Given the description of an element on the screen output the (x, y) to click on. 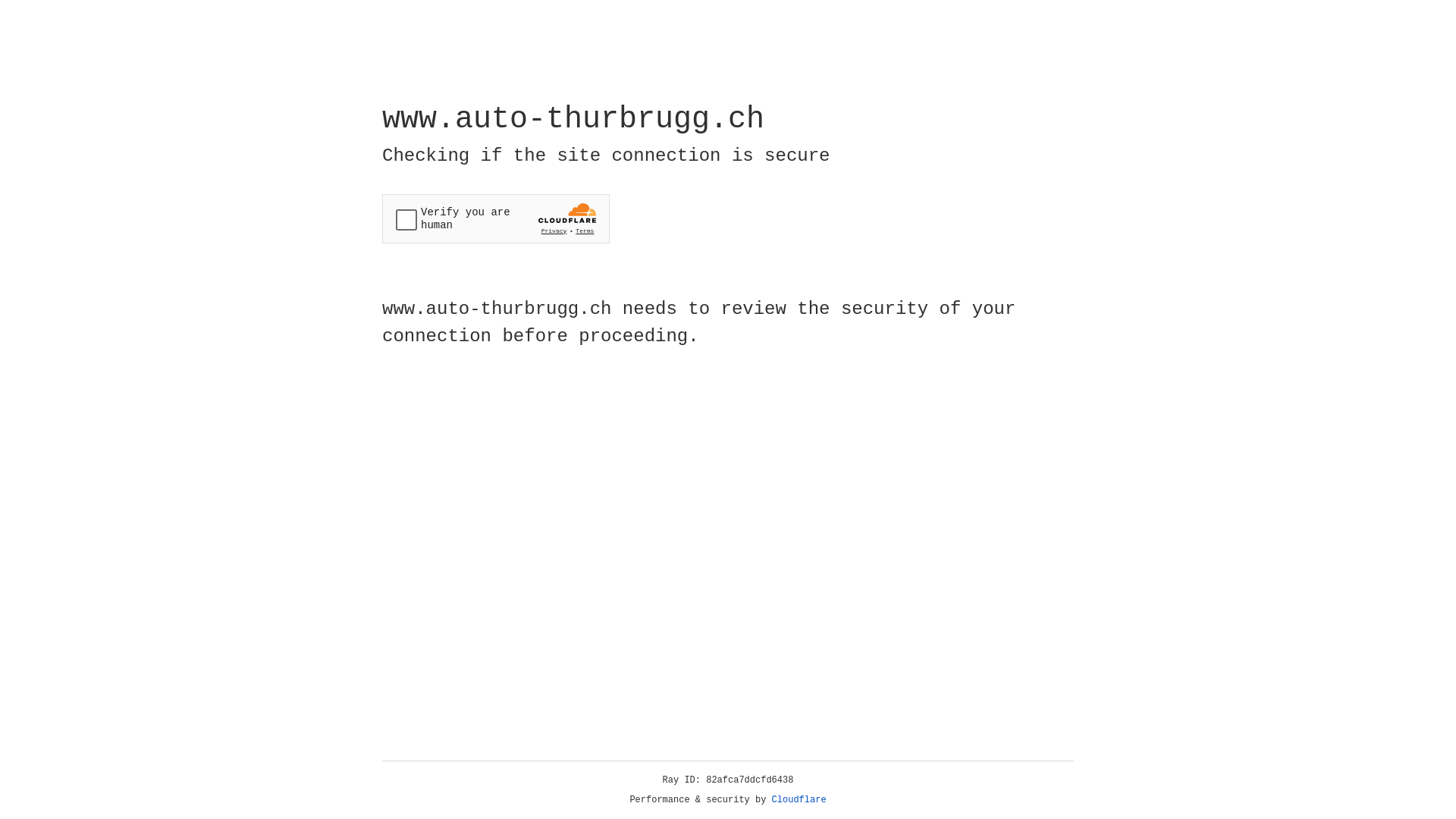
Widget containing a Cloudflare security challenge Element type: hover (495, 218)
Cloudflare Element type: text (798, 799)
